Given the description of an element on the screen output the (x, y) to click on. 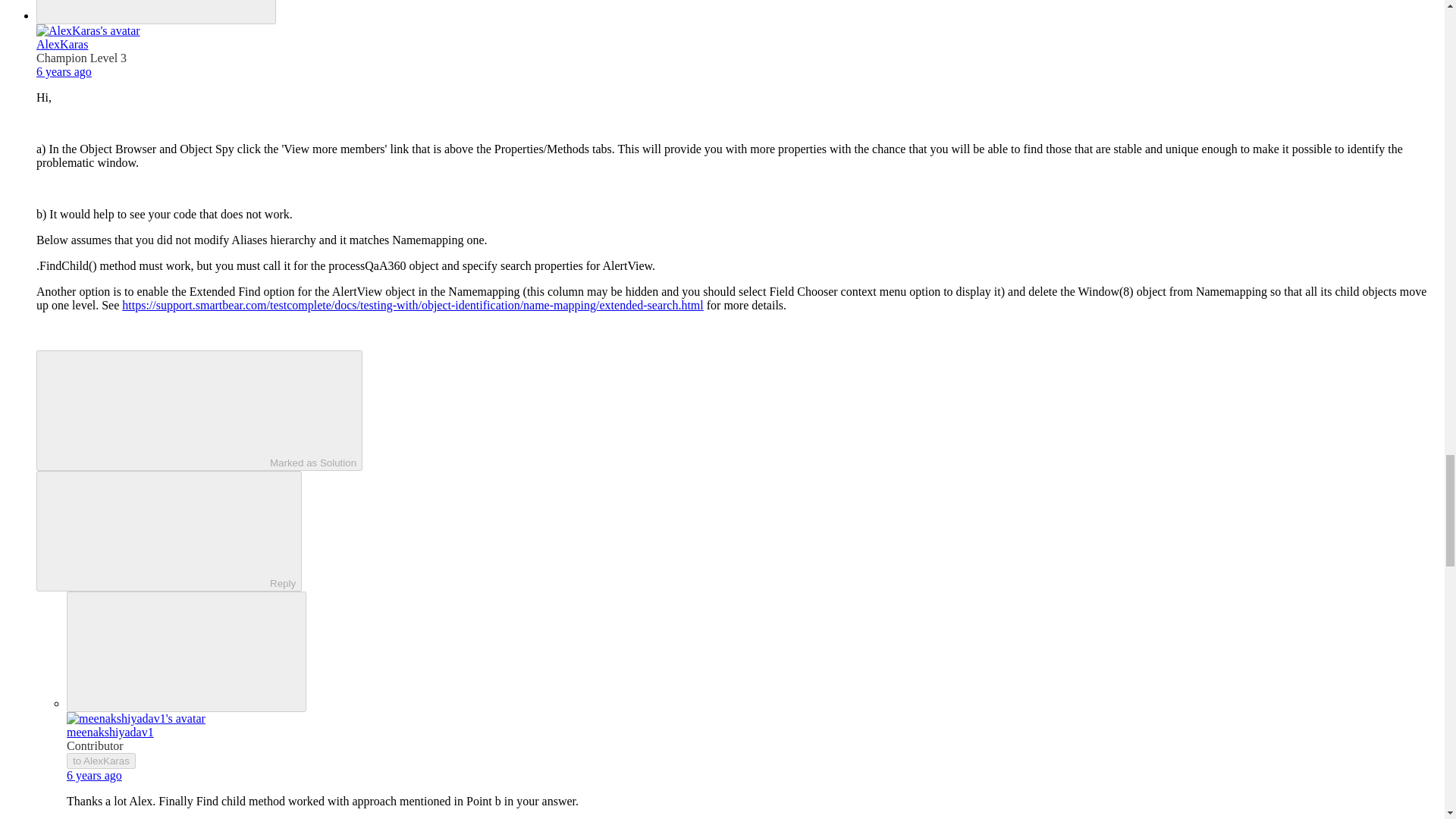
November 13, 2018 at 12:01 PM (94, 775)
Reply (155, 530)
November 9, 2018 at 12:19 PM (63, 71)
